Given the description of an element on the screen output the (x, y) to click on. 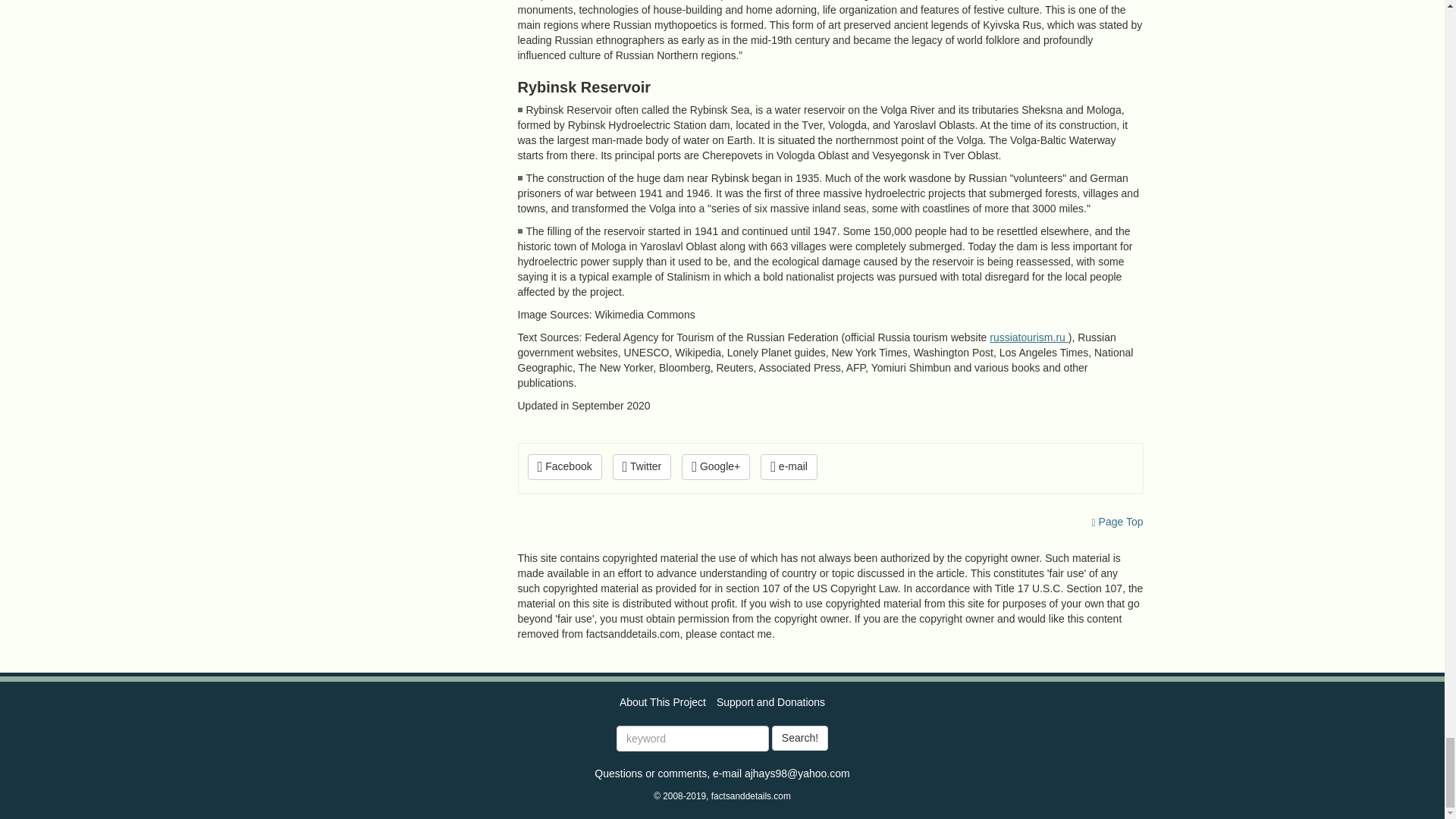
russiatourism.ru (1028, 337)
 Page Top (1117, 521)
About This Project (663, 702)
 Twitter (641, 466)
e-mail a link to this page (788, 466)
Support and Donations (770, 702)
Search! (799, 738)
 e-mail (788, 466)
 Facebook (564, 466)
Search! (799, 738)
